Given the description of an element on the screen output the (x, y) to click on. 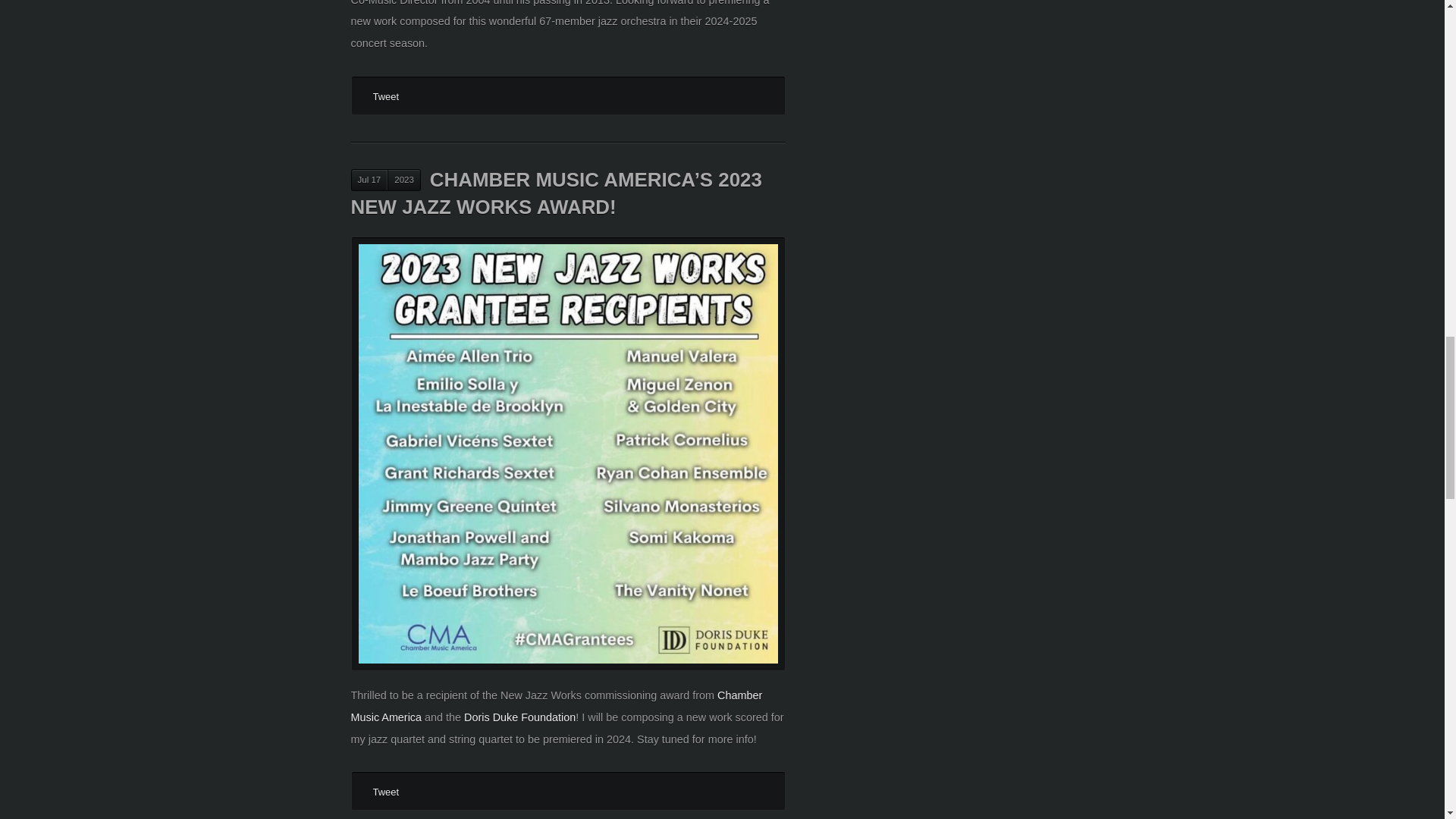
Chamber Music America (555, 706)
Tweet (385, 791)
Doris Duke Foundation (519, 717)
Tweet (385, 96)
